Given the description of an element on the screen output the (x, y) to click on. 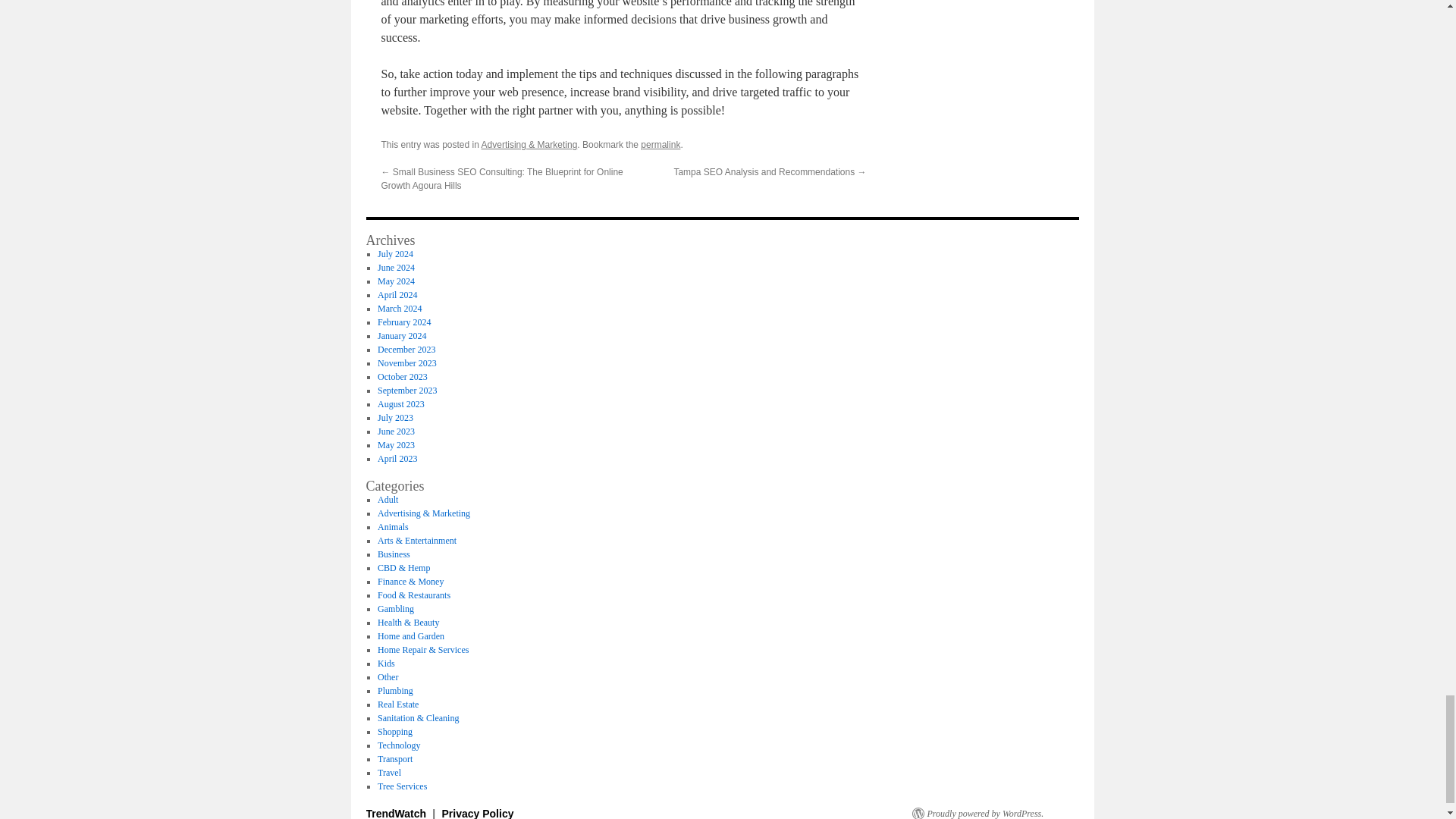
September 2023 (406, 389)
November 2023 (406, 362)
July 2023 (395, 417)
October 2023 (402, 376)
June 2024 (395, 267)
June 2023 (395, 430)
Animals (393, 526)
Adult (387, 499)
April 2023 (396, 458)
January 2024 (401, 335)
May 2024 (395, 281)
April 2024 (396, 294)
May 2023 (395, 444)
August 2023 (401, 403)
